Given the description of an element on the screen output the (x, y) to click on. 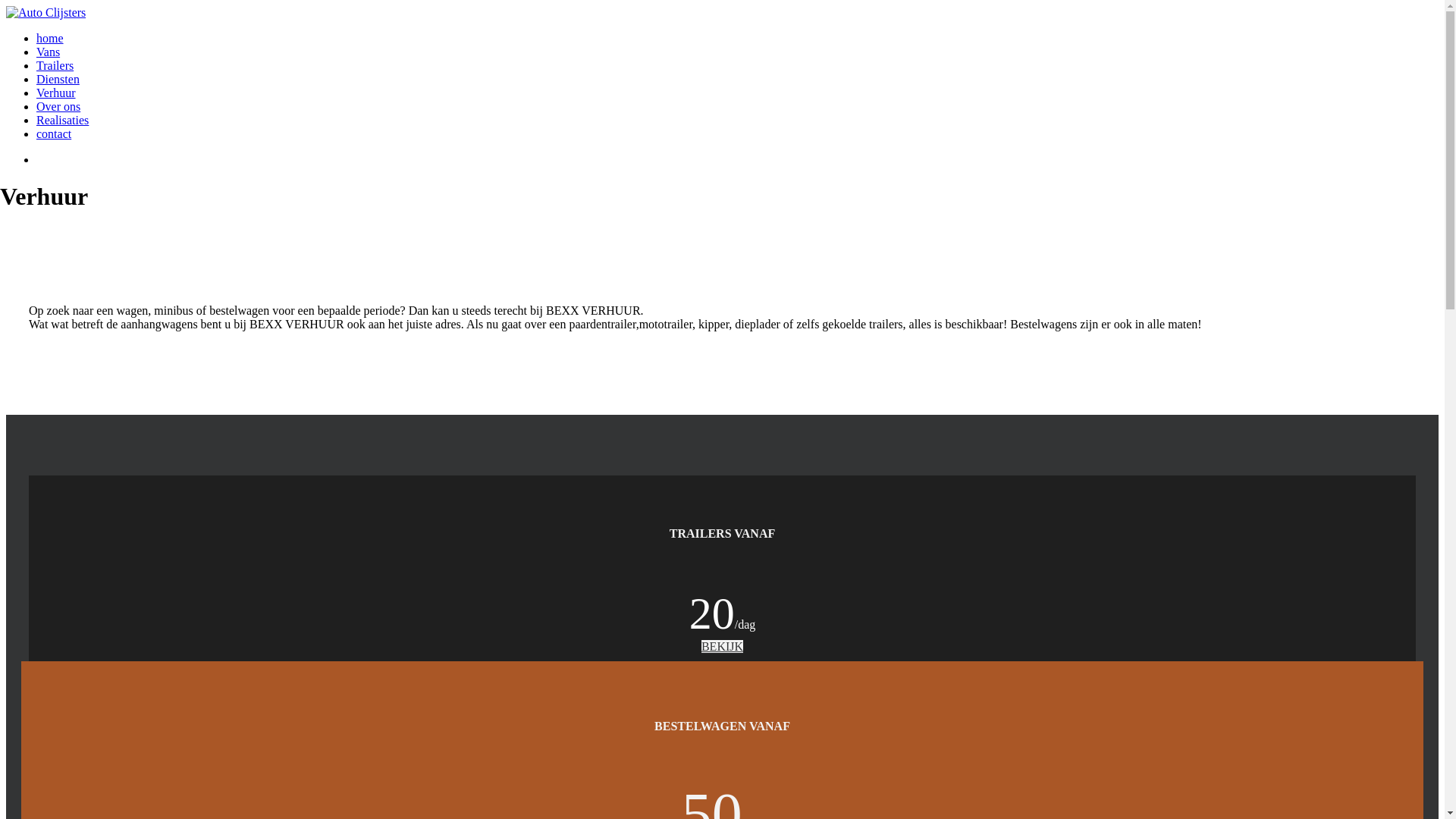
Vans Element type: text (47, 51)
contact Element type: text (53, 133)
Verhuur Element type: text (55, 92)
Diensten Element type: text (57, 78)
BEKIJK Element type: text (722, 646)
home Element type: text (49, 37)
Over ons Element type: text (58, 106)
Trailers Element type: text (54, 65)
Realisaties Element type: text (62, 119)
